Given the description of an element on the screen output the (x, y) to click on. 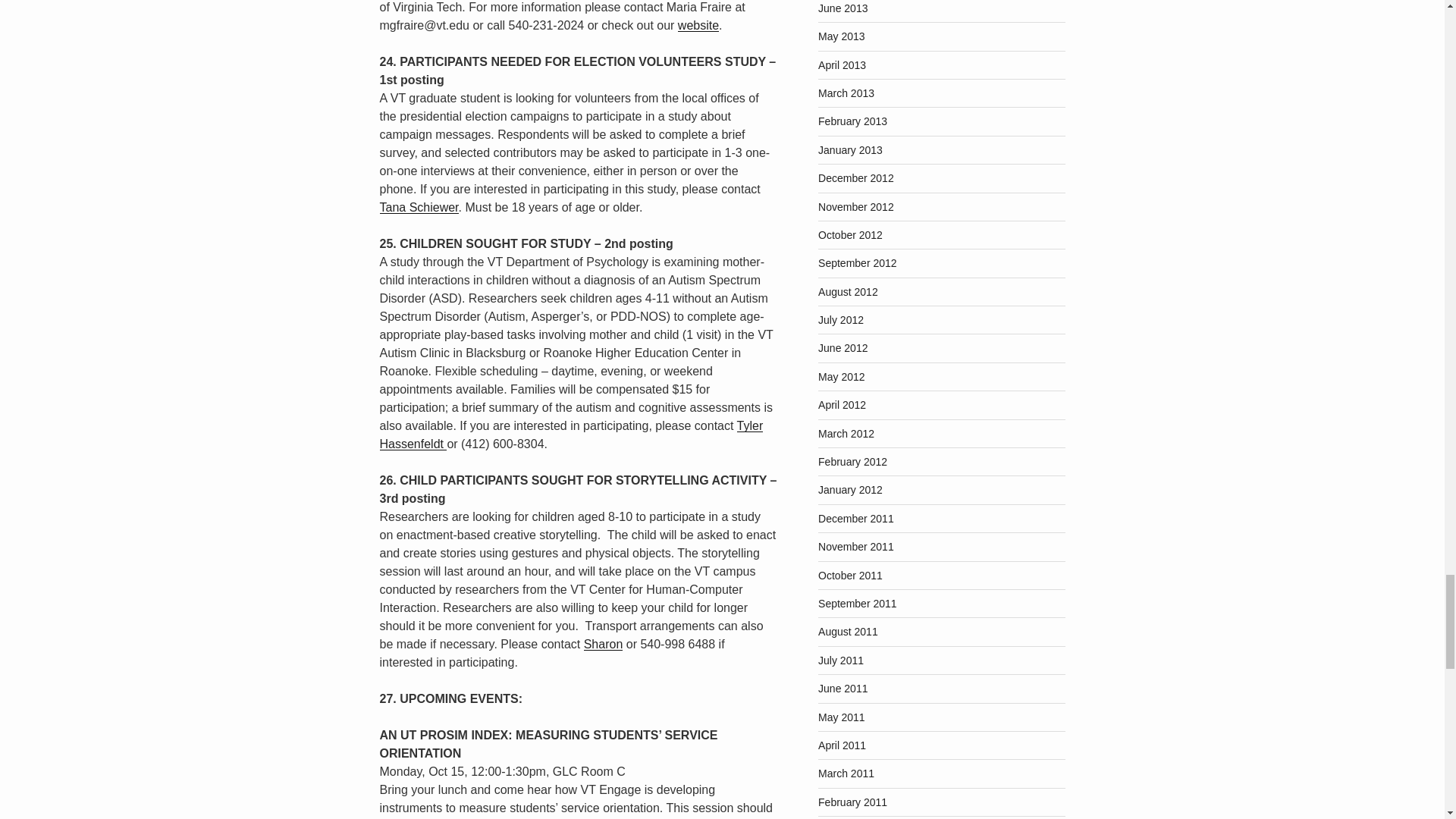
Tana Schiewer (418, 206)
Sharon (603, 644)
website (698, 24)
Tyler Hassenfeldt (570, 434)
